Given the description of an element on the screen output the (x, y) to click on. 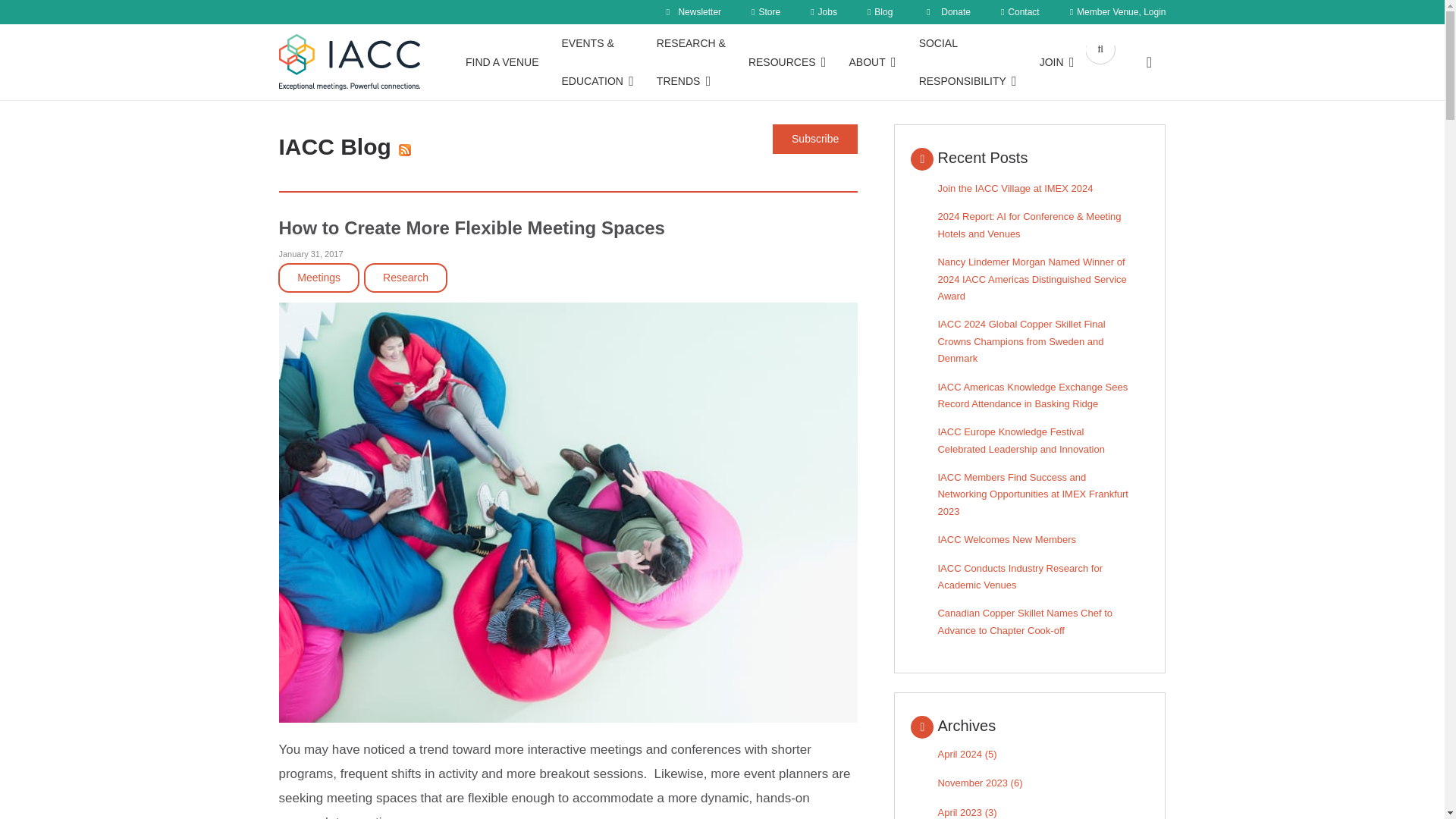
Contact (1020, 12)
Blog (879, 12)
Donate (947, 12)
Newsletter (691, 12)
Store (765, 12)
Jobs (823, 12)
FIND A VENUE (502, 62)
RESOURCES (787, 62)
Member Venue, Login (1118, 12)
